Given the description of an element on the screen output the (x, y) to click on. 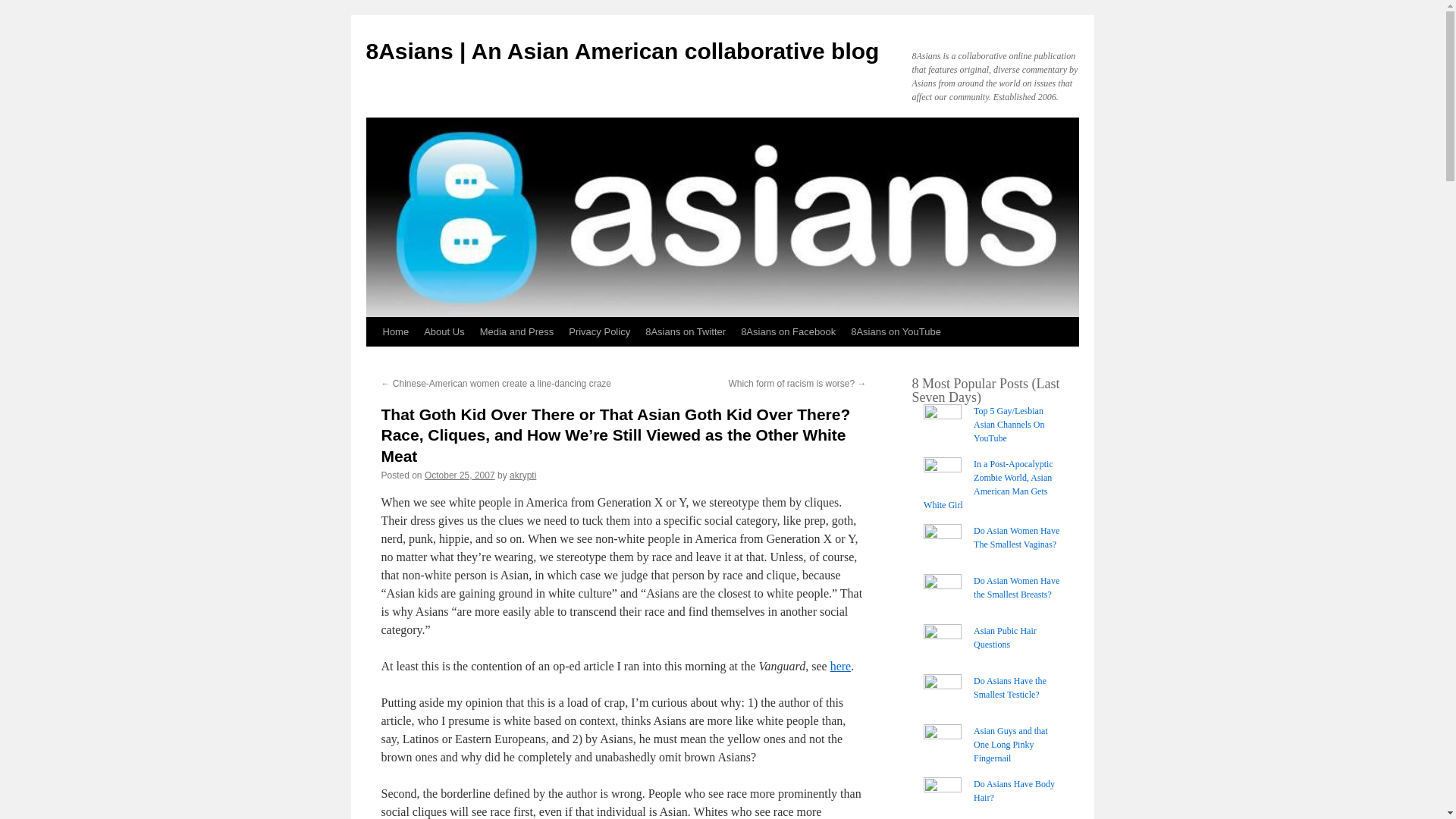
8Asians on YouTube (896, 331)
October 25, 2007 (460, 475)
8Asians on Facebook (788, 331)
View all posts by akrypti (522, 475)
Do Asian Women Have The Smallest Vaginas? (1016, 537)
About Us (443, 331)
here (840, 666)
8Asians on Twitter (685, 331)
akrypti (522, 475)
Media and Press (516, 331)
Home (395, 331)
10:59 am (460, 475)
Privacy Policy (598, 331)
Skip to content (372, 359)
